Given the description of an element on the screen output the (x, y) to click on. 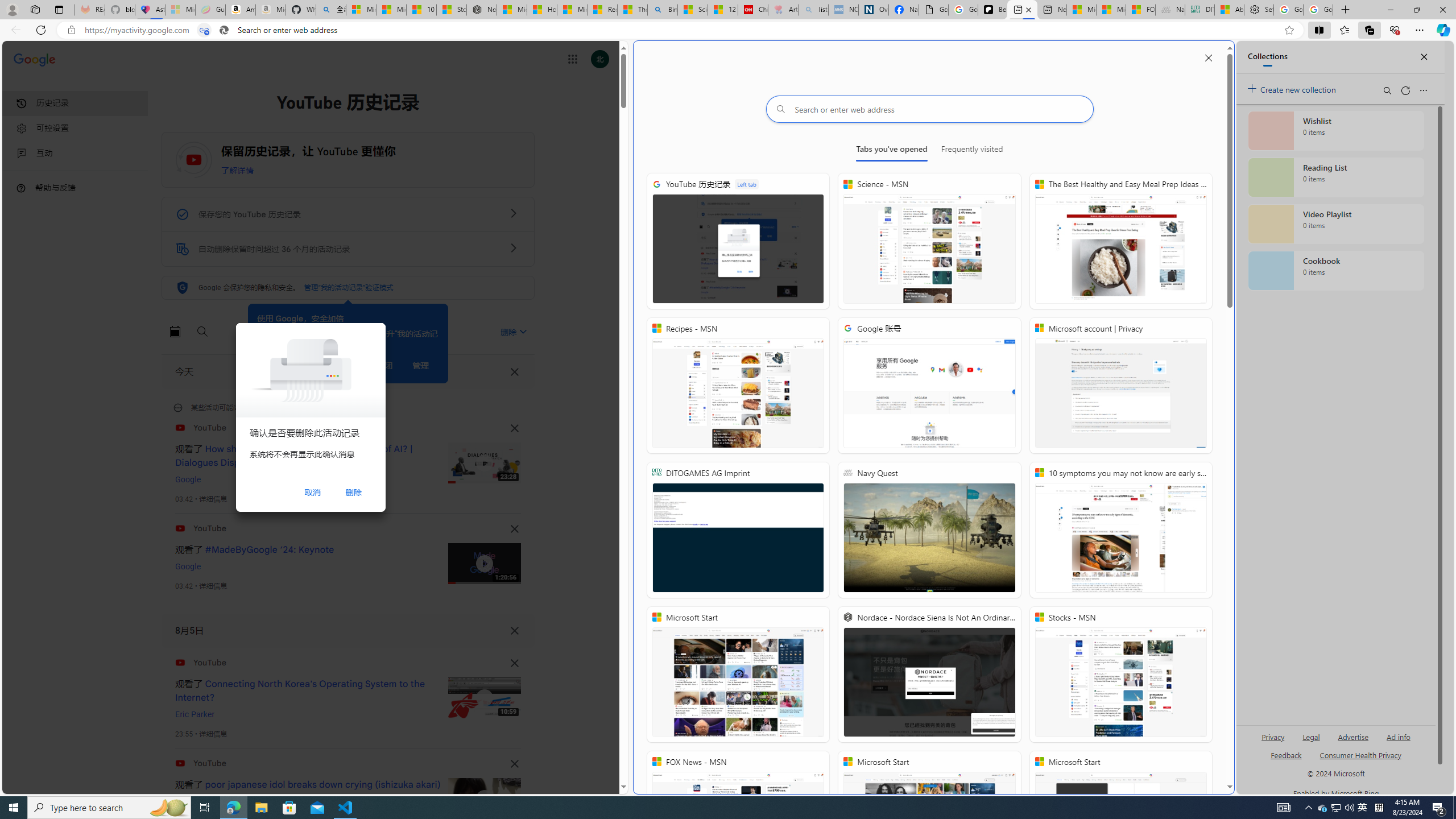
New split screen (1022, 9)
Arthritis: Ask Health Professionals - Sleeping (782, 9)
